Given the description of an element on the screen output the (x, y) to click on. 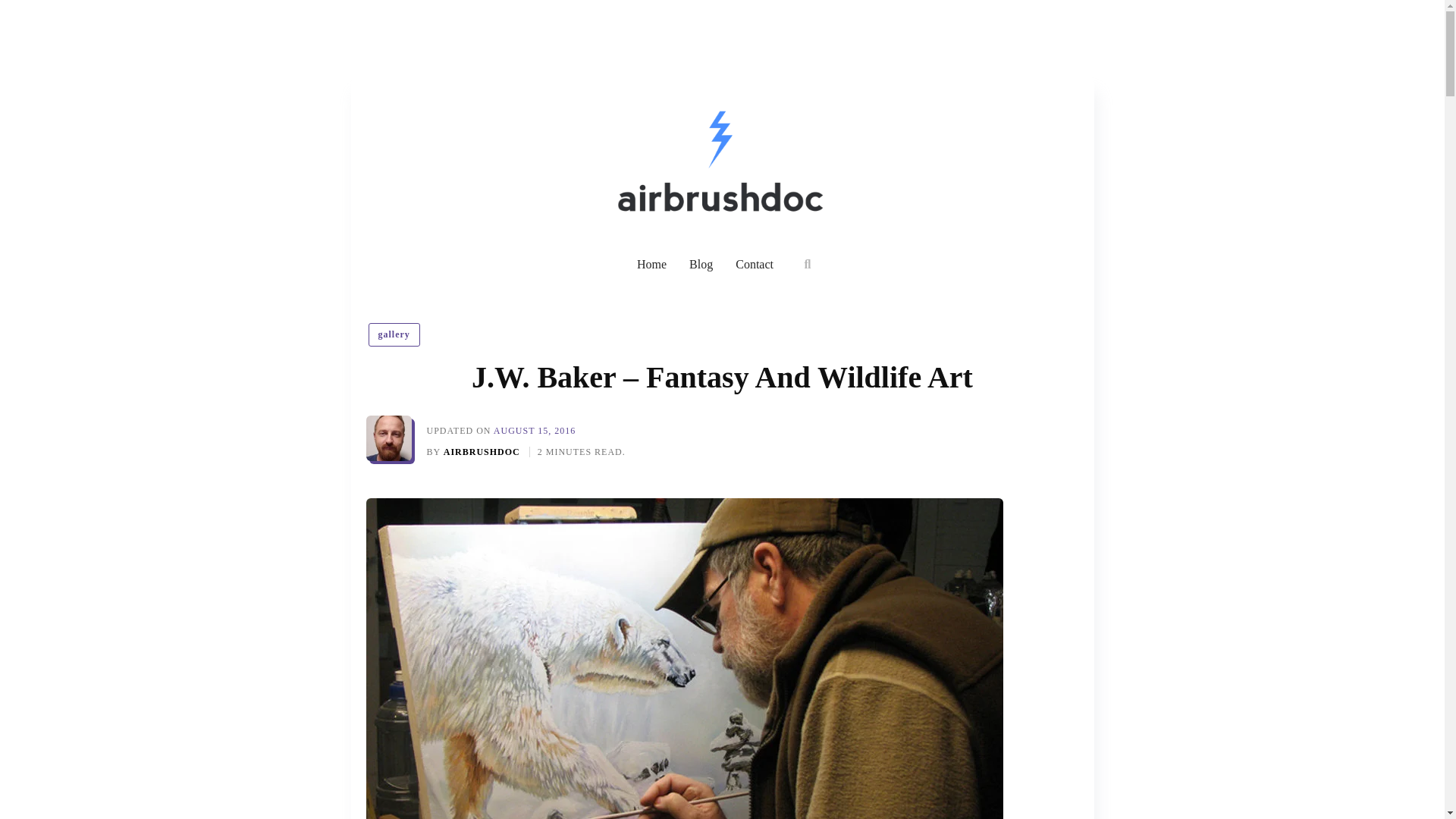
Blog (700, 263)
4:26 pm (534, 430)
AUGUST 15, 2016 (534, 430)
AIRBRUSHDOC (483, 451)
Home (652, 263)
gallery (394, 333)
homepage (652, 263)
Contact (753, 263)
contact airbrushodoc (753, 263)
airbrush blogs (700, 263)
